Given the description of an element on the screen output the (x, y) to click on. 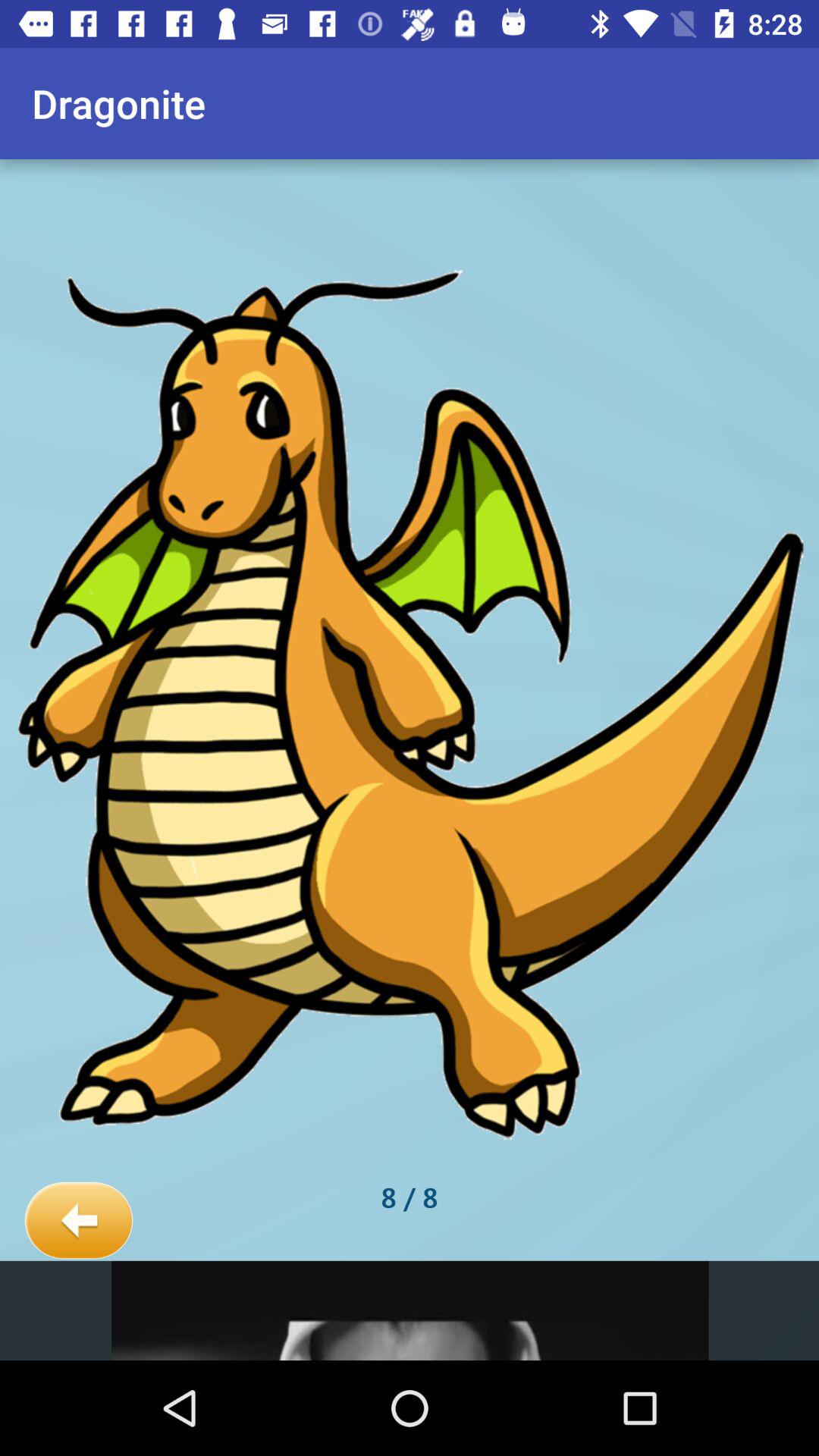
press icon at the bottom left corner (78, 1220)
